Given the description of an element on the screen output the (x, y) to click on. 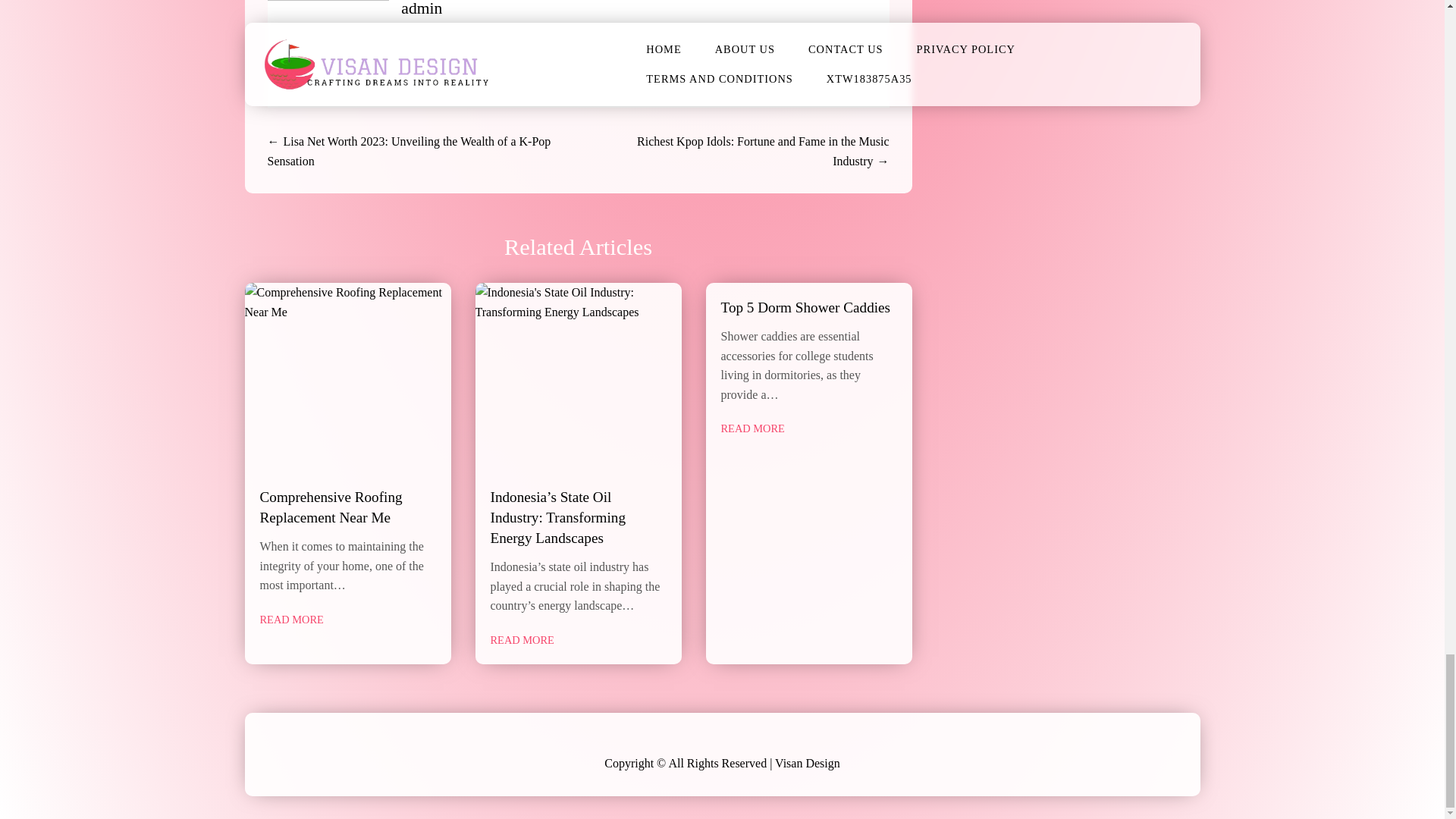
READ MORE (291, 619)
READ MORE (521, 639)
Comprehensive Roofing Replacement Near Me (330, 506)
Top 5 Dorm Shower Caddies  (806, 307)
Visan Design (807, 762)
READ MORE (752, 428)
admin (421, 8)
Richest Kpop Idols: Fortune and Fame in the Music Industry (762, 151)
